Given the description of an element on the screen output the (x, y) to click on. 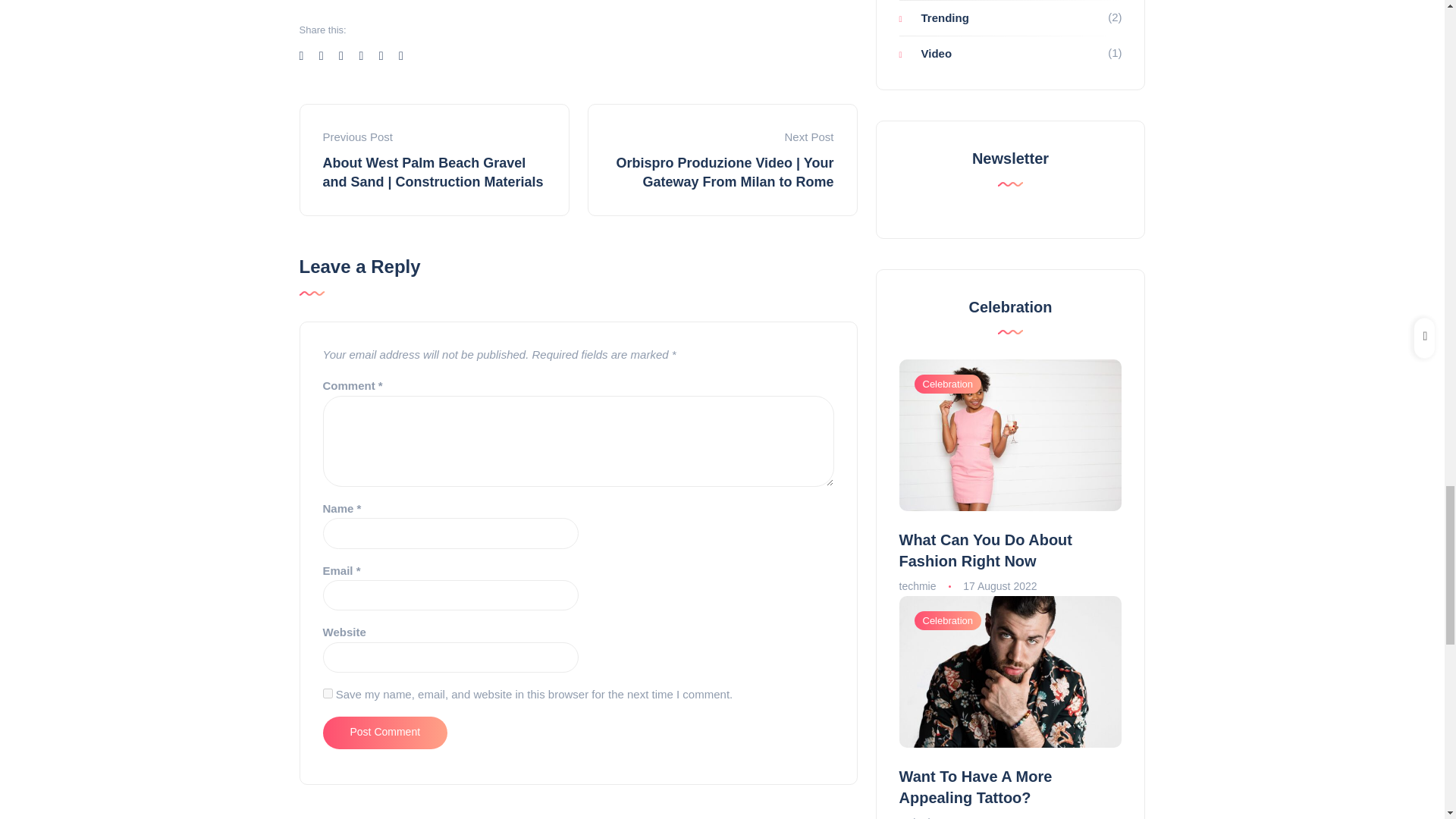
yes (328, 693)
Post Comment (385, 732)
